Given the description of an element on the screen output the (x, y) to click on. 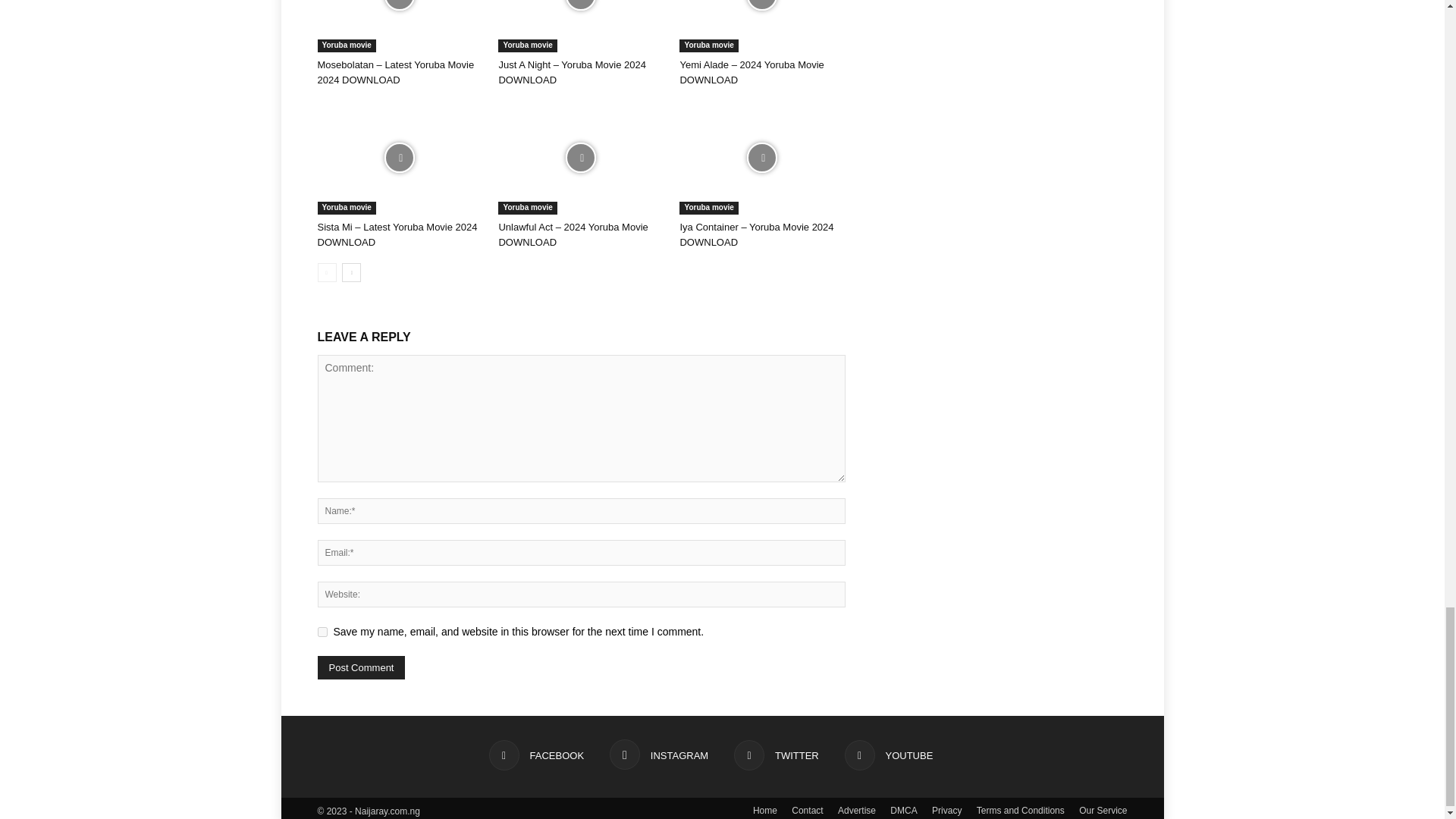
Post Comment (360, 667)
yes (321, 632)
